Given the description of an element on the screen output the (x, y) to click on. 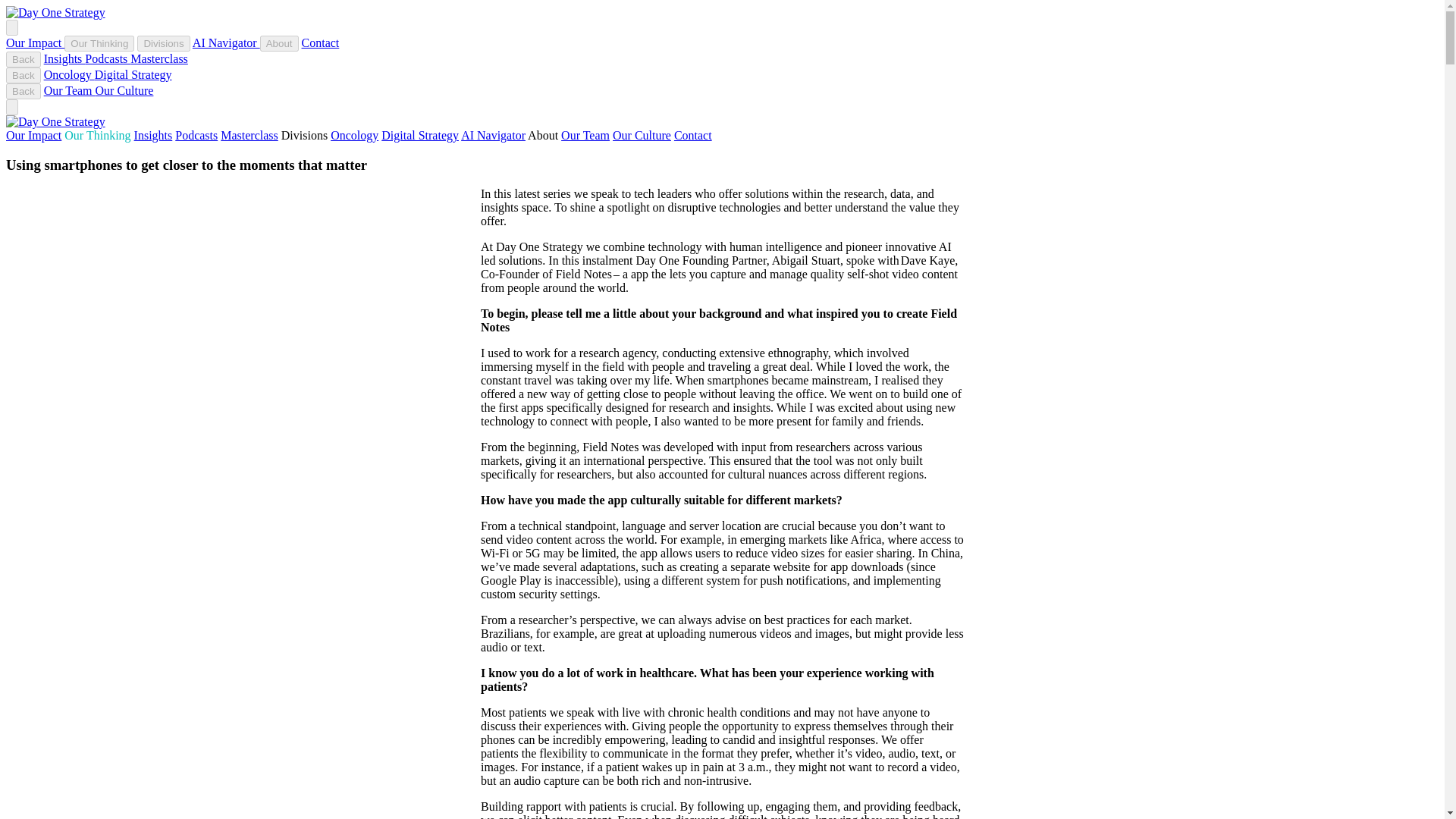
Our Thinking (98, 43)
AI Navigator (493, 134)
Our Thinking (97, 134)
Our Culture (641, 134)
Contact (692, 134)
About (279, 43)
Our Team (69, 90)
Divisions (304, 134)
Our Team (585, 134)
Oncology (68, 74)
